Given the description of an element on the screen output the (x, y) to click on. 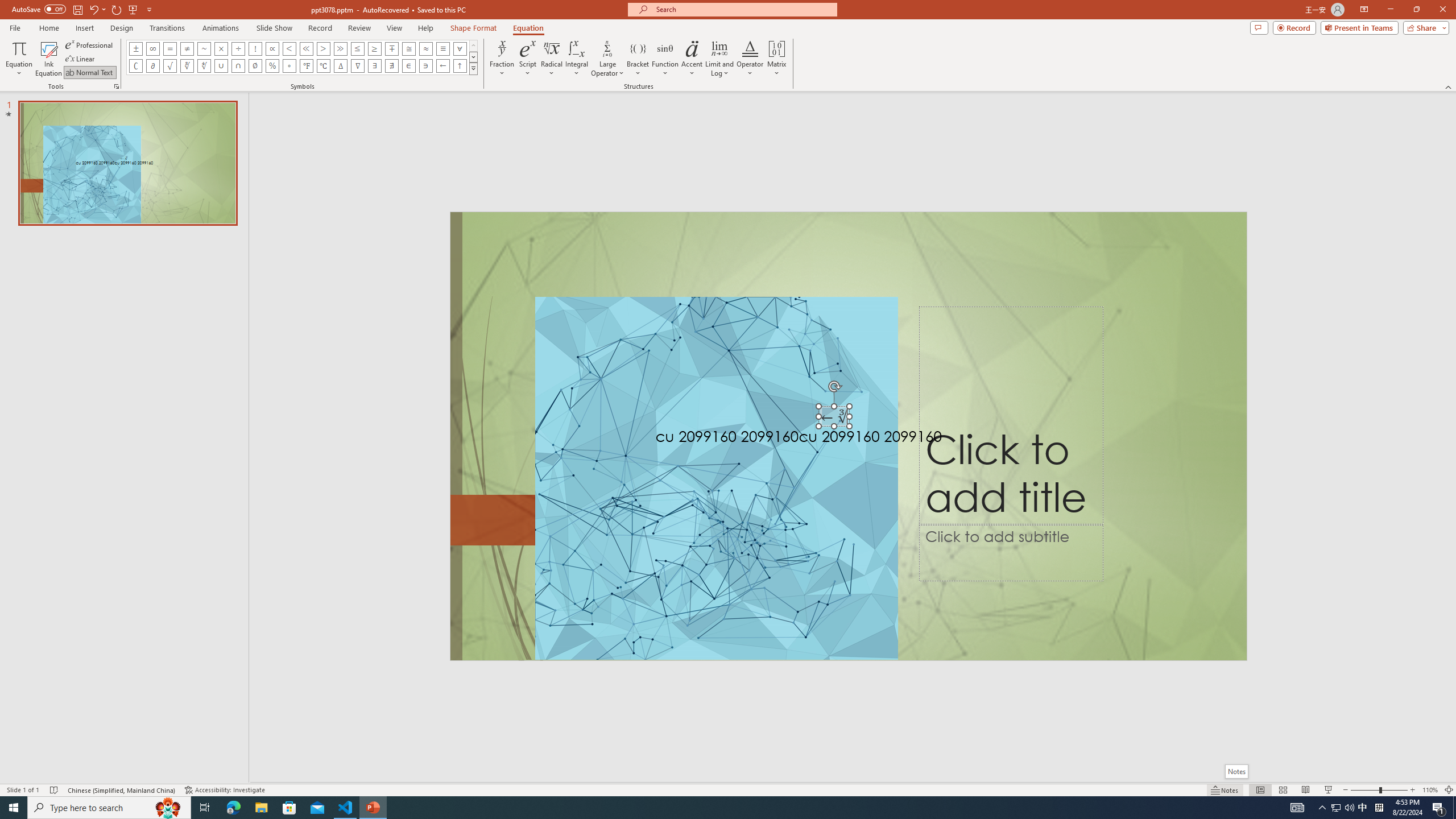
Notes (1235, 771)
Equation Symbols (472, 68)
Radical (552, 58)
Script (527, 58)
Equation Symbol Approximately Equal To (408, 48)
Limit and Log (719, 58)
Equation Symbol Degrees (289, 65)
Equation Symbol Less Than or Equal To (357, 48)
Fraction (502, 58)
Large Operator (607, 58)
